Given the description of an element on the screen output the (x, y) to click on. 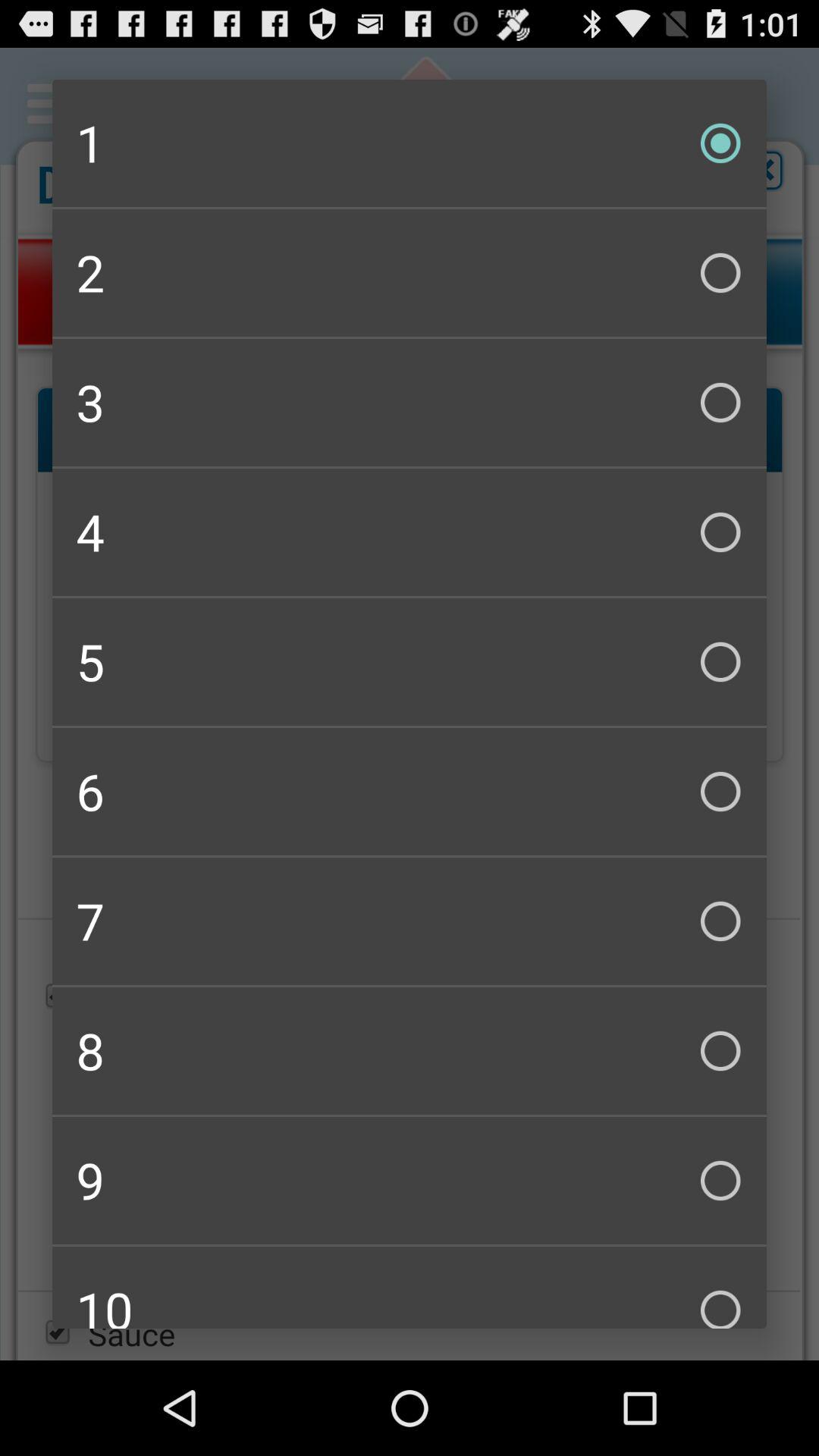
tap item below the 2 icon (409, 402)
